Given the description of an element on the screen output the (x, y) to click on. 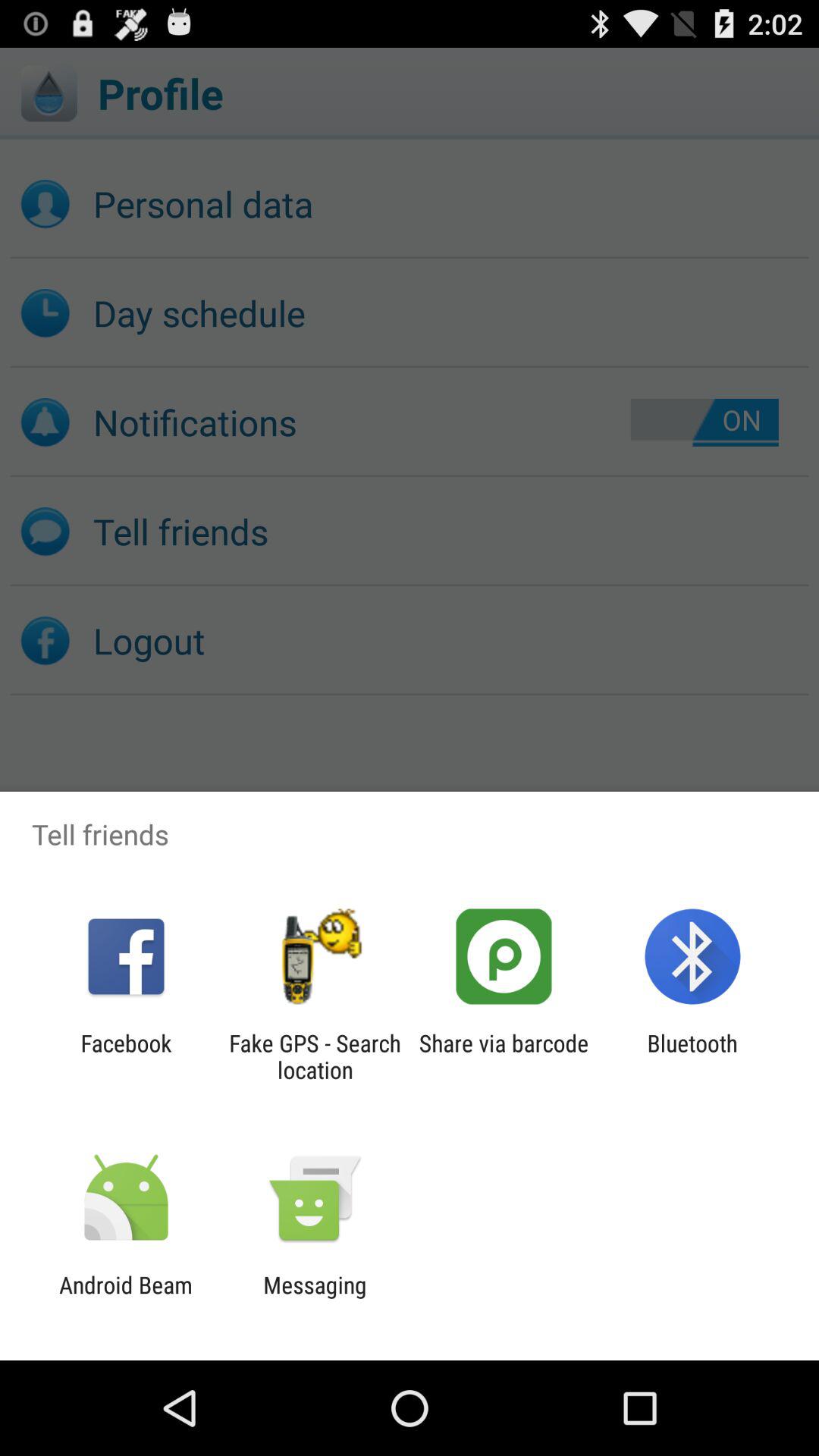
choose the share via barcode app (503, 1056)
